Given the description of an element on the screen output the (x, y) to click on. 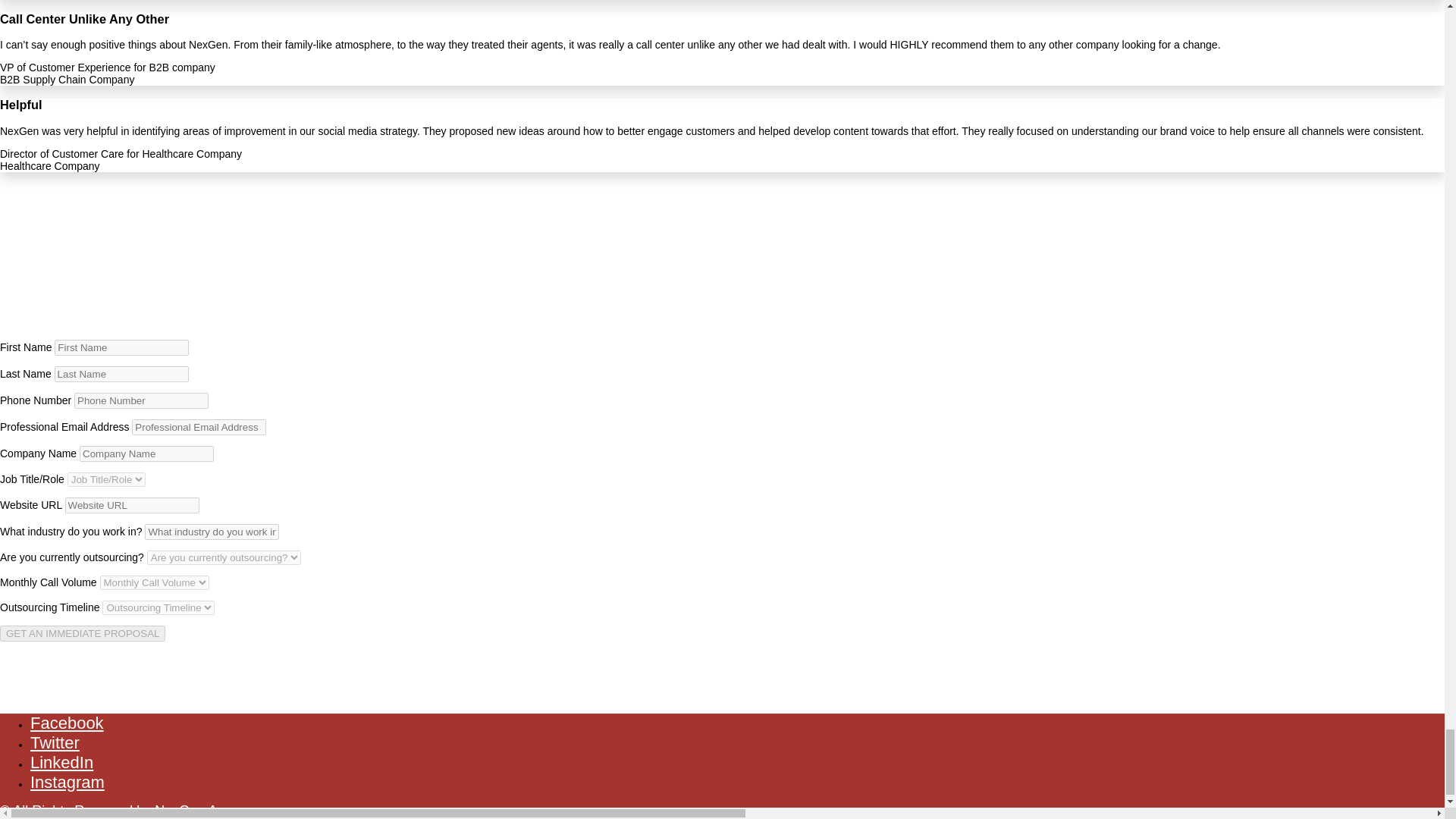
Instagram (67, 782)
Twitter (55, 742)
LinkedIn (61, 762)
GET AN IMMEDIATE PROPOSAL (82, 633)
Facebook (66, 722)
